Given the description of an element on the screen output the (x, y) to click on. 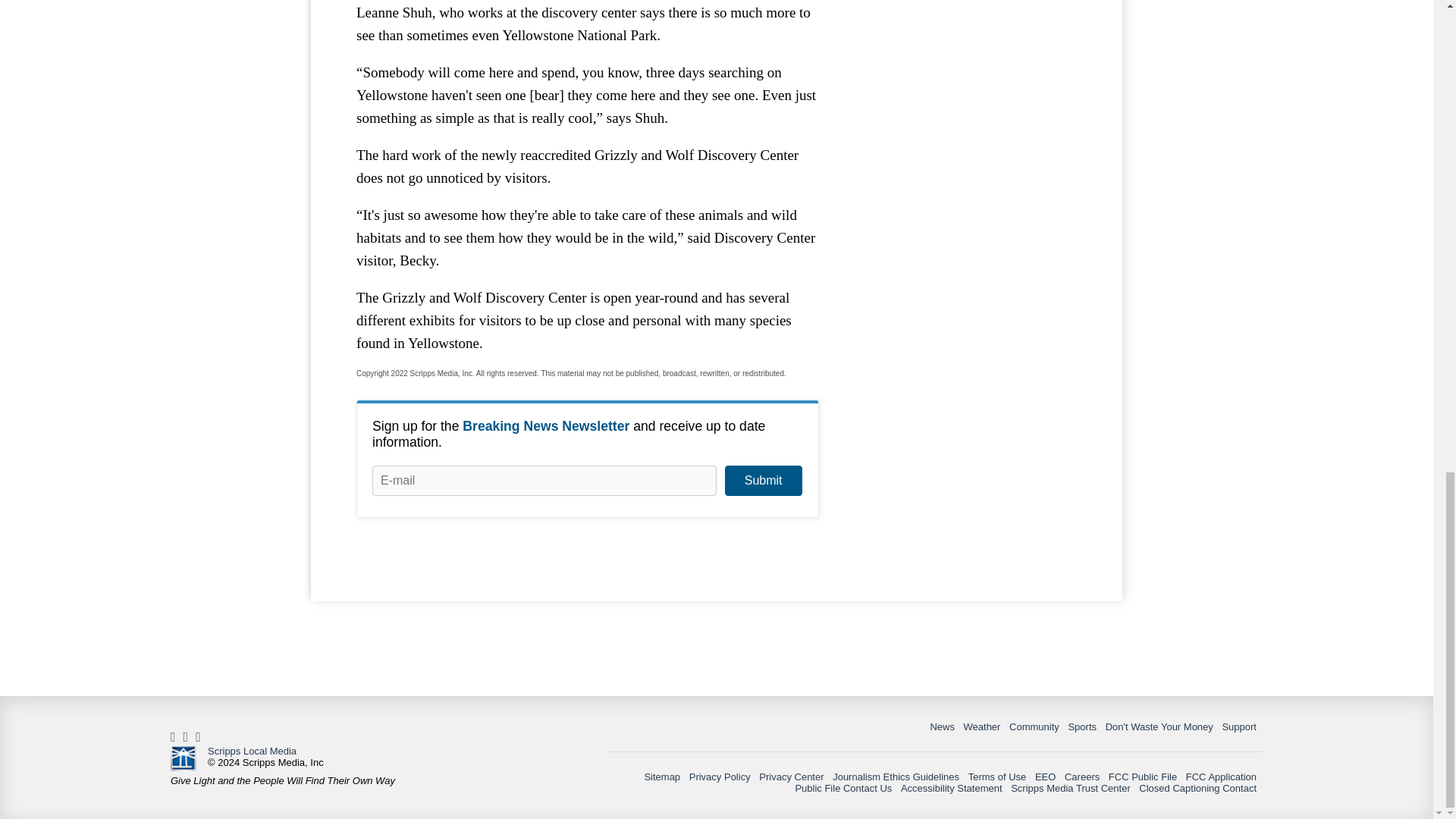
Submit (763, 481)
